Given the description of an element on the screen output the (x, y) to click on. 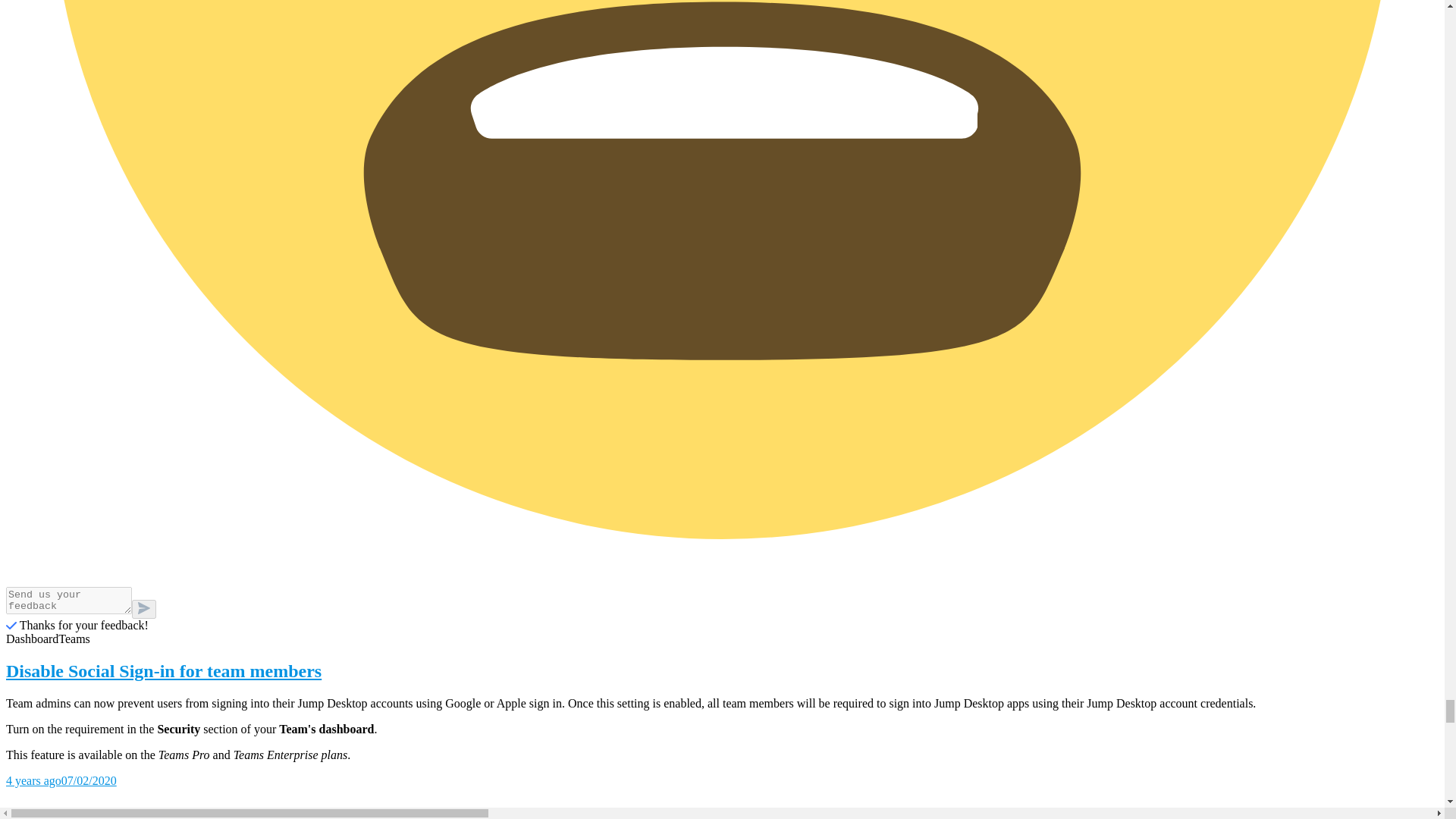
Submit Button (143, 609)
